Given the description of an element on the screen output the (x, y) to click on. 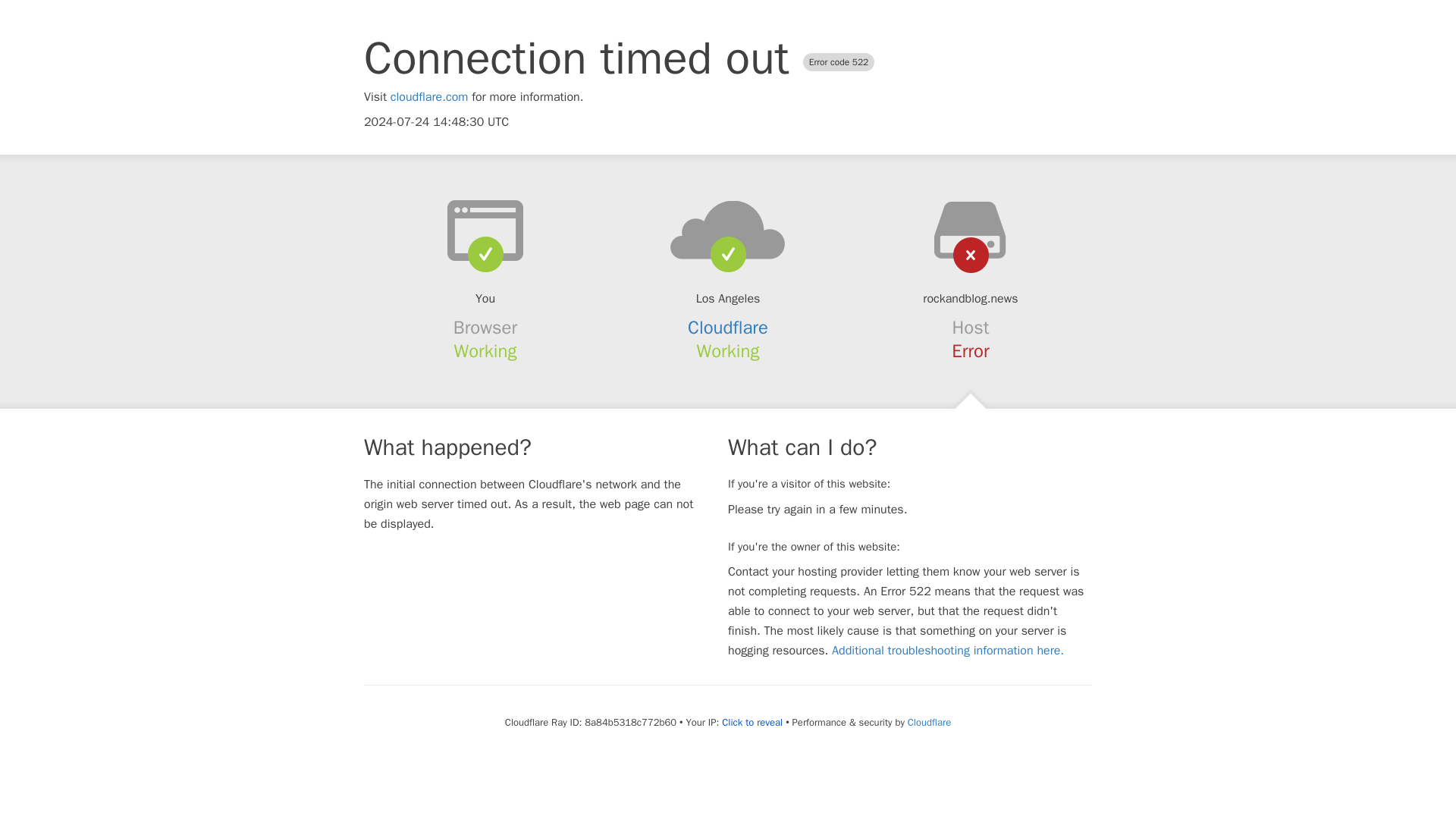
Click to reveal (752, 722)
Cloudflare (727, 327)
Additional troubleshooting information here. (947, 650)
Cloudflare (928, 721)
cloudflare.com (429, 96)
